Given the description of an element on the screen output the (x, y) to click on. 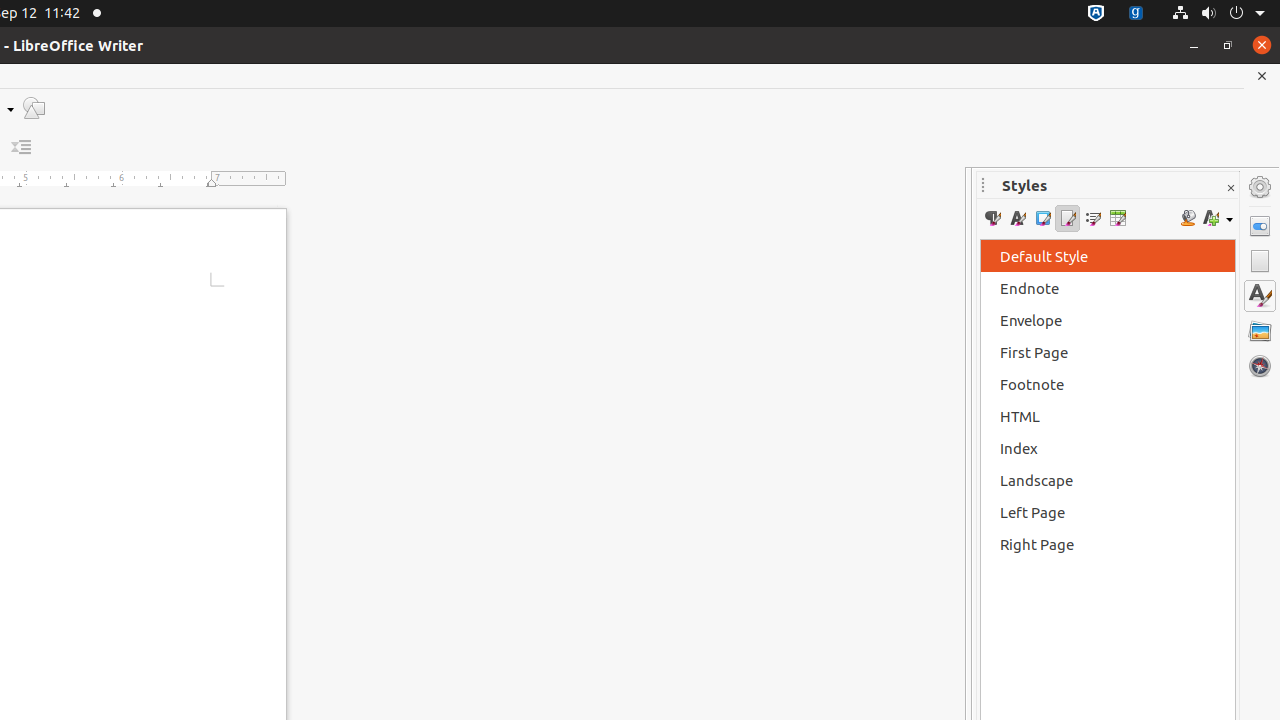
Styles Element type: radio-button (1260, 296)
Gallery Element type: radio-button (1260, 331)
Navigator Element type: radio-button (1260, 366)
Page Element type: radio-button (1260, 261)
